Given the description of an element on the screen output the (x, y) to click on. 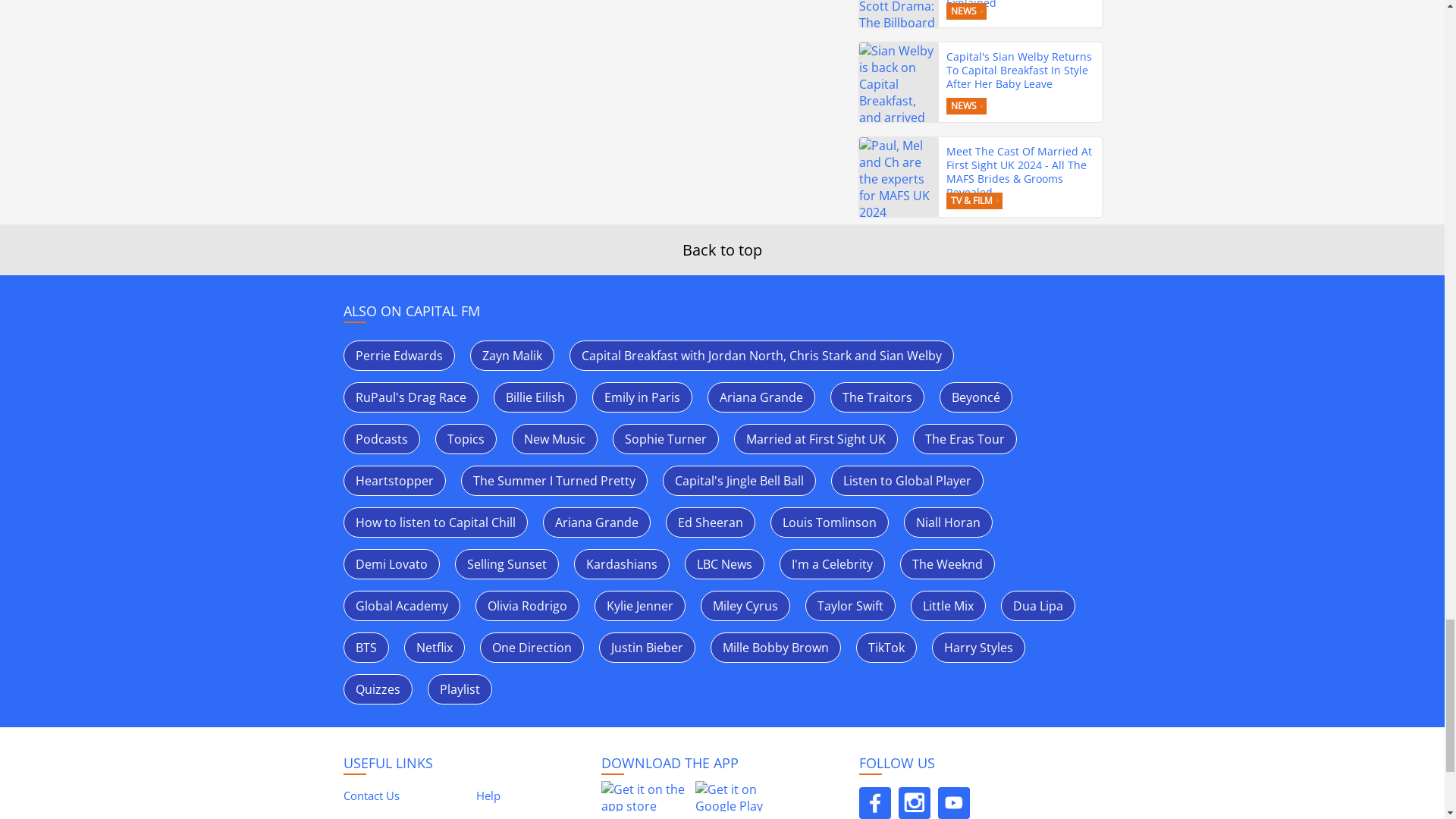
Follow Capital on Youtube (953, 803)
Follow Capital on Facebook (874, 803)
Back to top (721, 249)
Follow Capital on Instagram (914, 803)
